Given the description of an element on the screen output the (x, y) to click on. 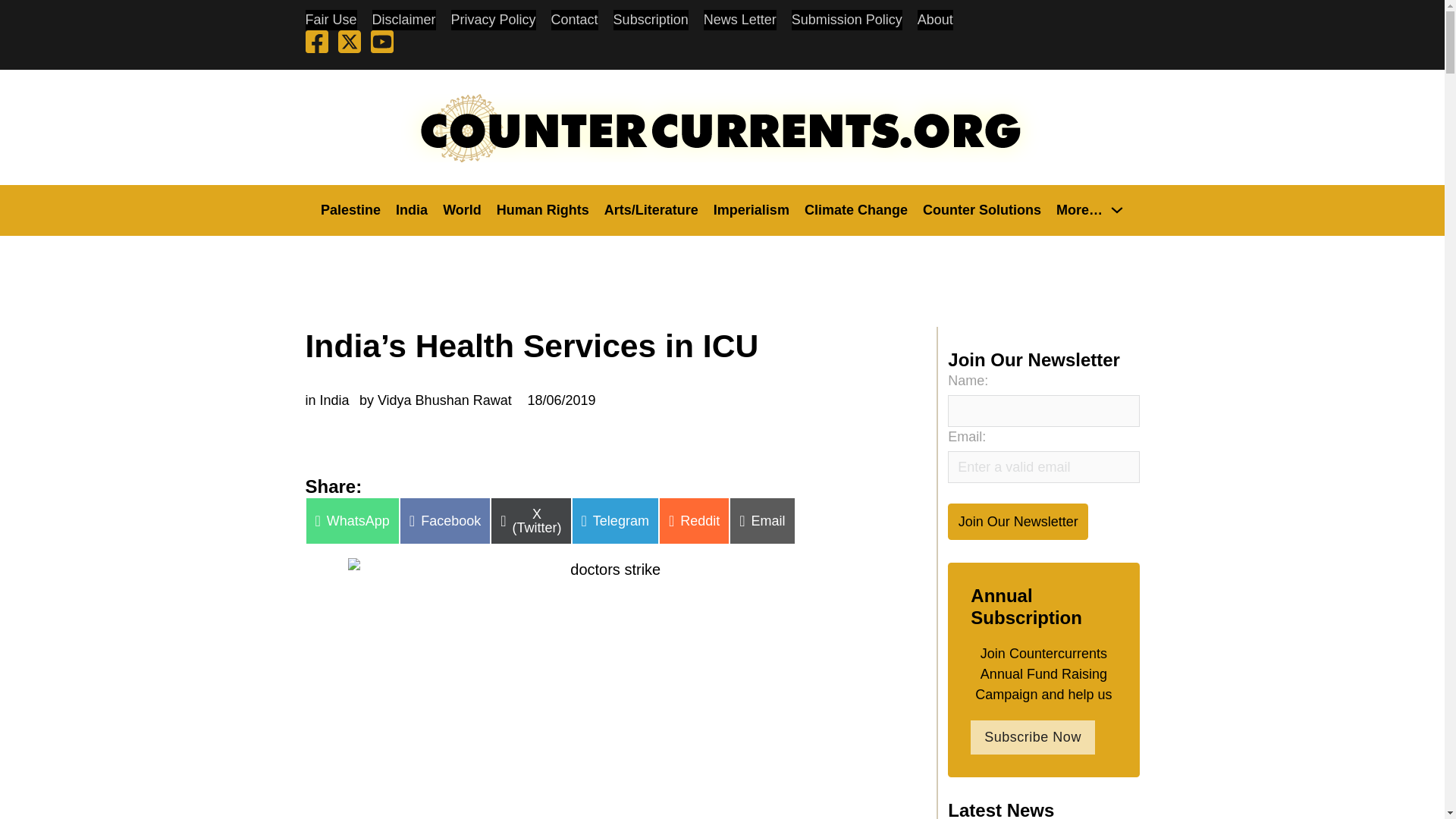
Human Rights (542, 209)
Subscription (650, 19)
News Letter (739, 19)
Join Our Newsletter (1017, 520)
Privacy Policy (493, 19)
Climate Change (856, 209)
Counter Solutions (982, 209)
World (461, 209)
Palestine (350, 209)
